Given the description of an element on the screen output the (x, y) to click on. 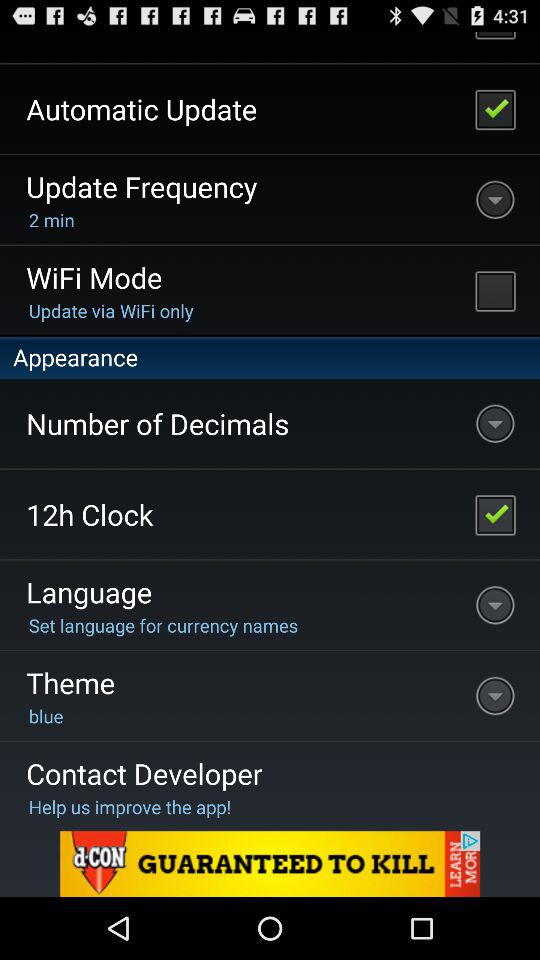
advertisement link (270, 864)
